Given the description of an element on the screen output the (x, y) to click on. 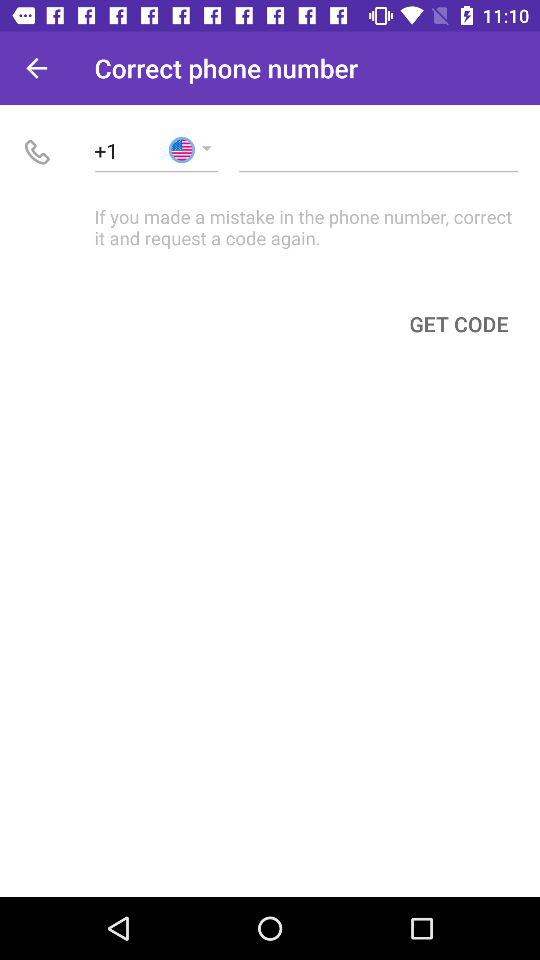
turn off icon next to correct phone number item (36, 68)
